Given the description of an element on the screen output the (x, y) to click on. 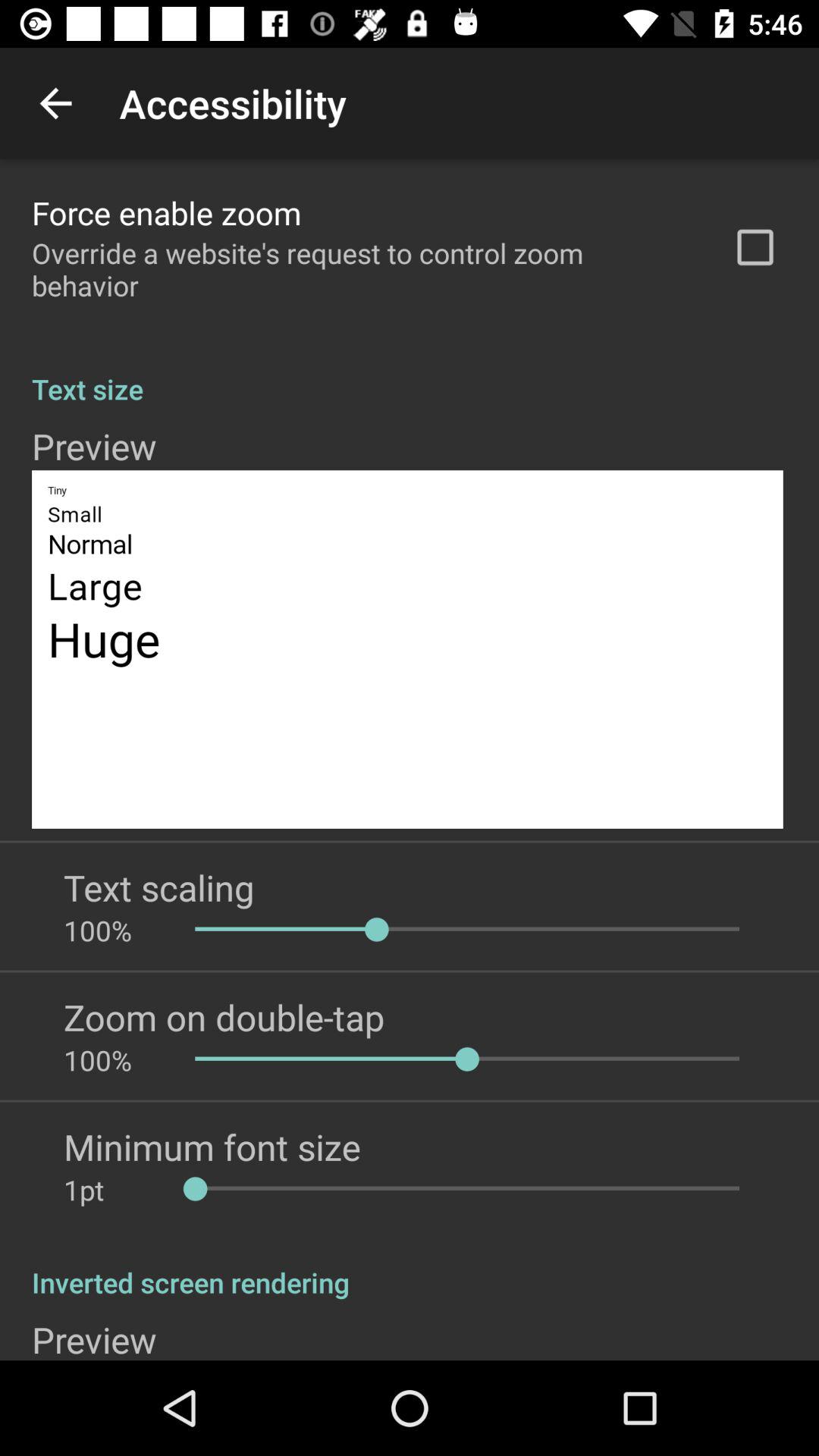
open item below 100% app (211, 1146)
